Given the description of an element on the screen output the (x, y) to click on. 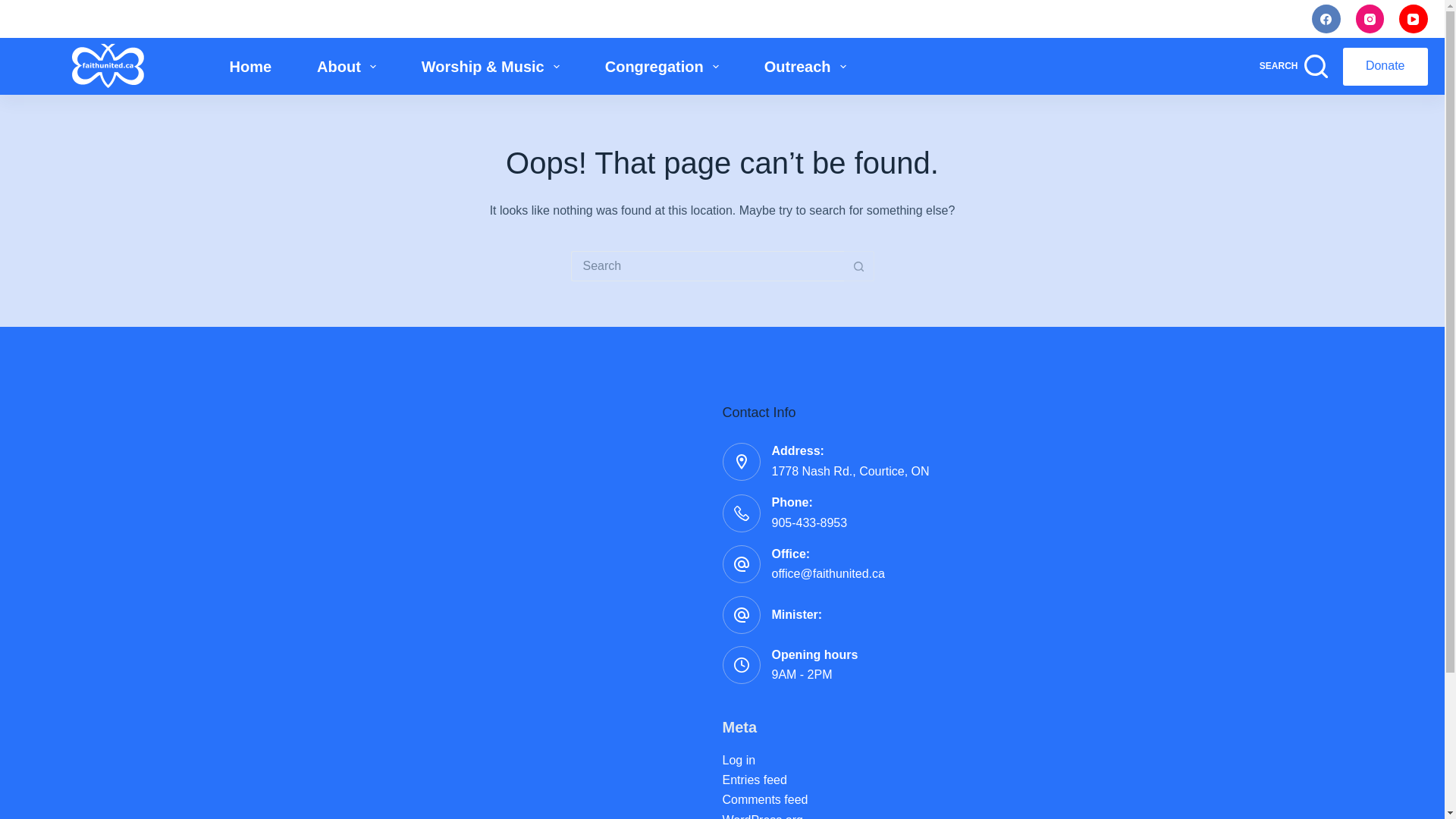
Staff (1097, 18)
Rentals (1254, 18)
Events (1172, 18)
Home (250, 66)
Noticings (1016, 18)
About (346, 66)
Search for... (706, 265)
Skip to content (15, 7)
